Given the description of an element on the screen output the (x, y) to click on. 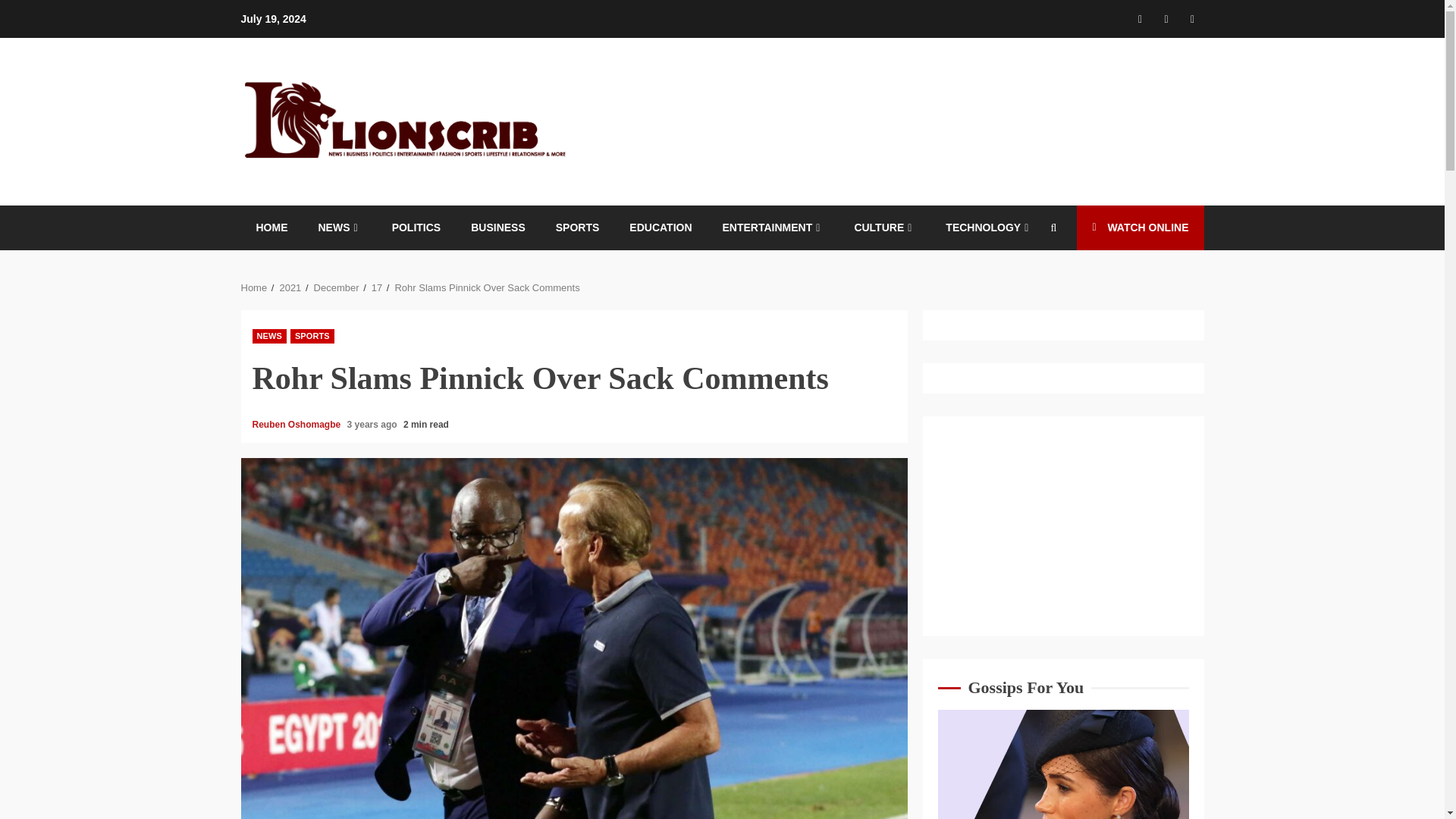
BUSINESS (497, 227)
NEWS (339, 227)
Twitter (1165, 18)
POLITICS (416, 227)
Rohr Slams Pinnick Over Sack Comments (486, 287)
WATCH ONLINE (1140, 227)
NEWS (268, 336)
ENTERTAINMENT (773, 227)
CULTURE (884, 227)
Facebook (1140, 18)
December (336, 287)
SPORTS (577, 227)
Home (254, 287)
SPORTS (311, 336)
TECHNOLOGY (988, 227)
